Given the description of an element on the screen output the (x, y) to click on. 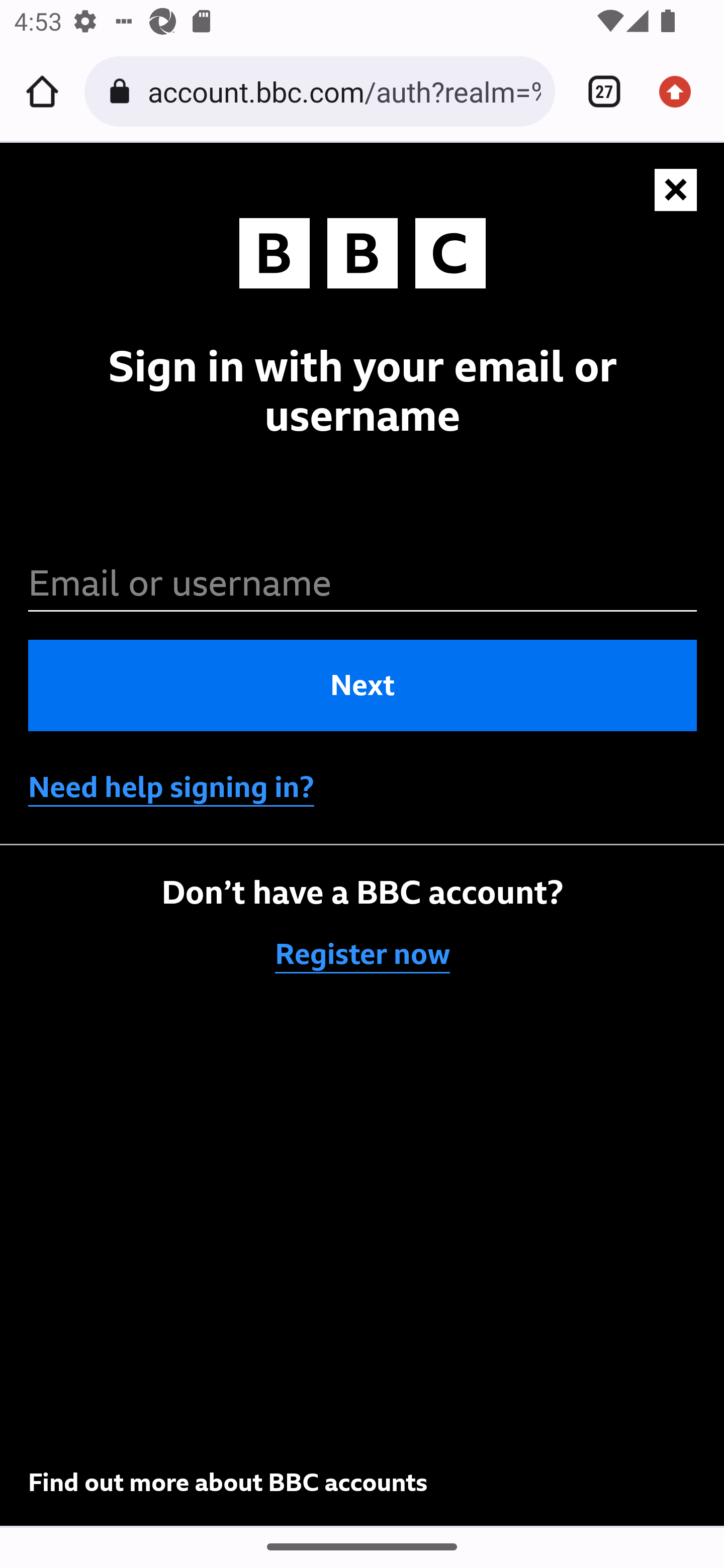
Home (42, 91)
Connection is secure (122, 91)
Switch or close tabs (597, 91)
Update available. More options (681, 91)
Close and return to where you originally came from (676, 190)
Go to the BBC Homepage (362, 255)
Next (363, 685)
Need help signing in? (171, 785)
Register now (363, 954)
Find out more about BBC accounts (228, 1483)
